Given the description of an element on the screen output the (x, y) to click on. 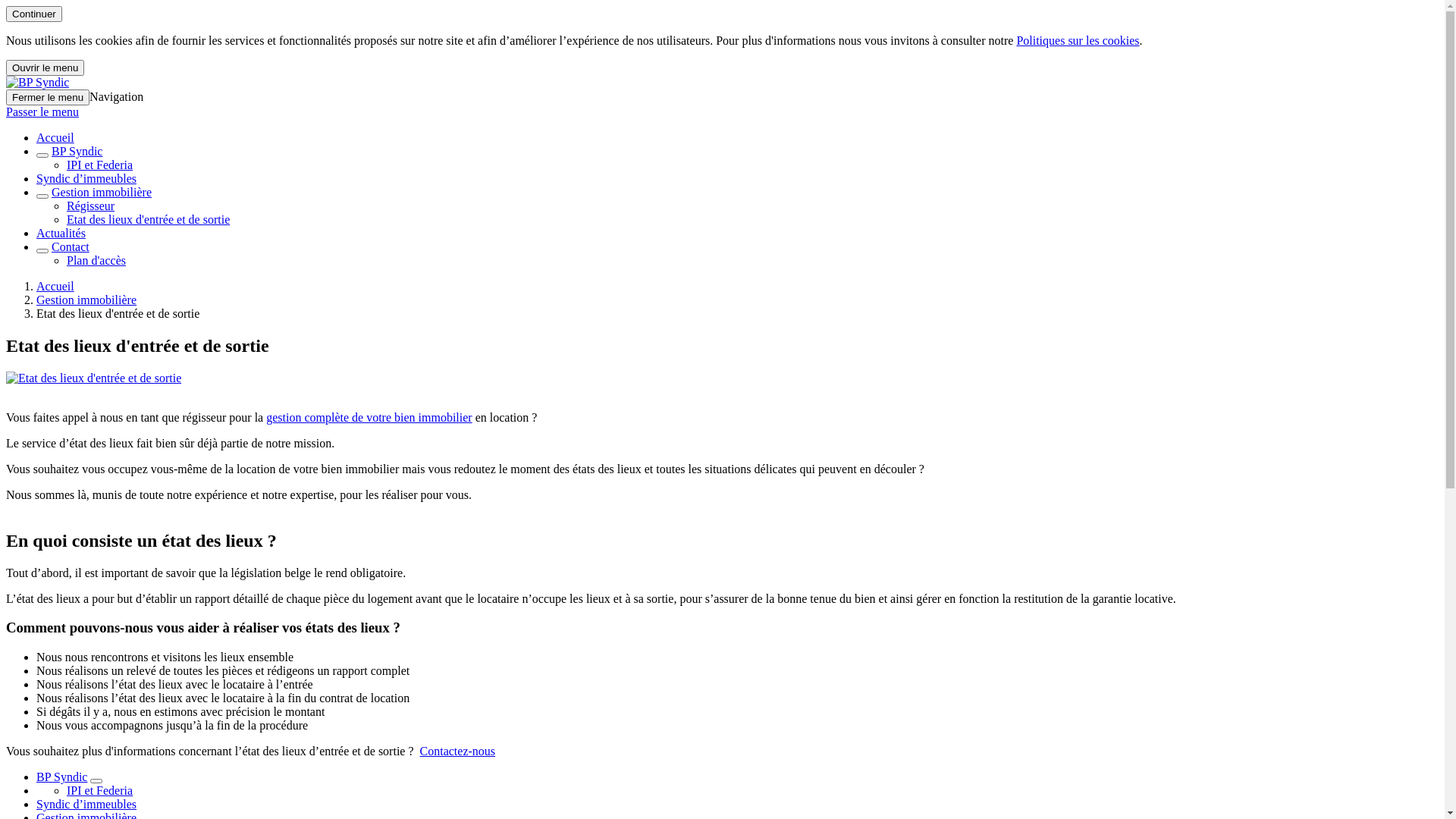
Accueil Element type: text (55, 285)
Ouvrir le menu Element type: text (45, 67)
Accueil Element type: text (55, 137)
BP Syndic Element type: text (61, 776)
Passer le menu Element type: text (42, 111)
Contactez-nous Element type: text (457, 750)
Contact Element type: text (70, 246)
Fermer le menu Element type: text (47, 97)
Politiques sur les cookies Element type: text (1077, 40)
IPI et Federia Element type: text (99, 164)
BP Syndic Element type: text (76, 150)
Continuer Element type: text (34, 13)
IPI et Federia Element type: text (99, 790)
